Given the description of an element on the screen output the (x, y) to click on. 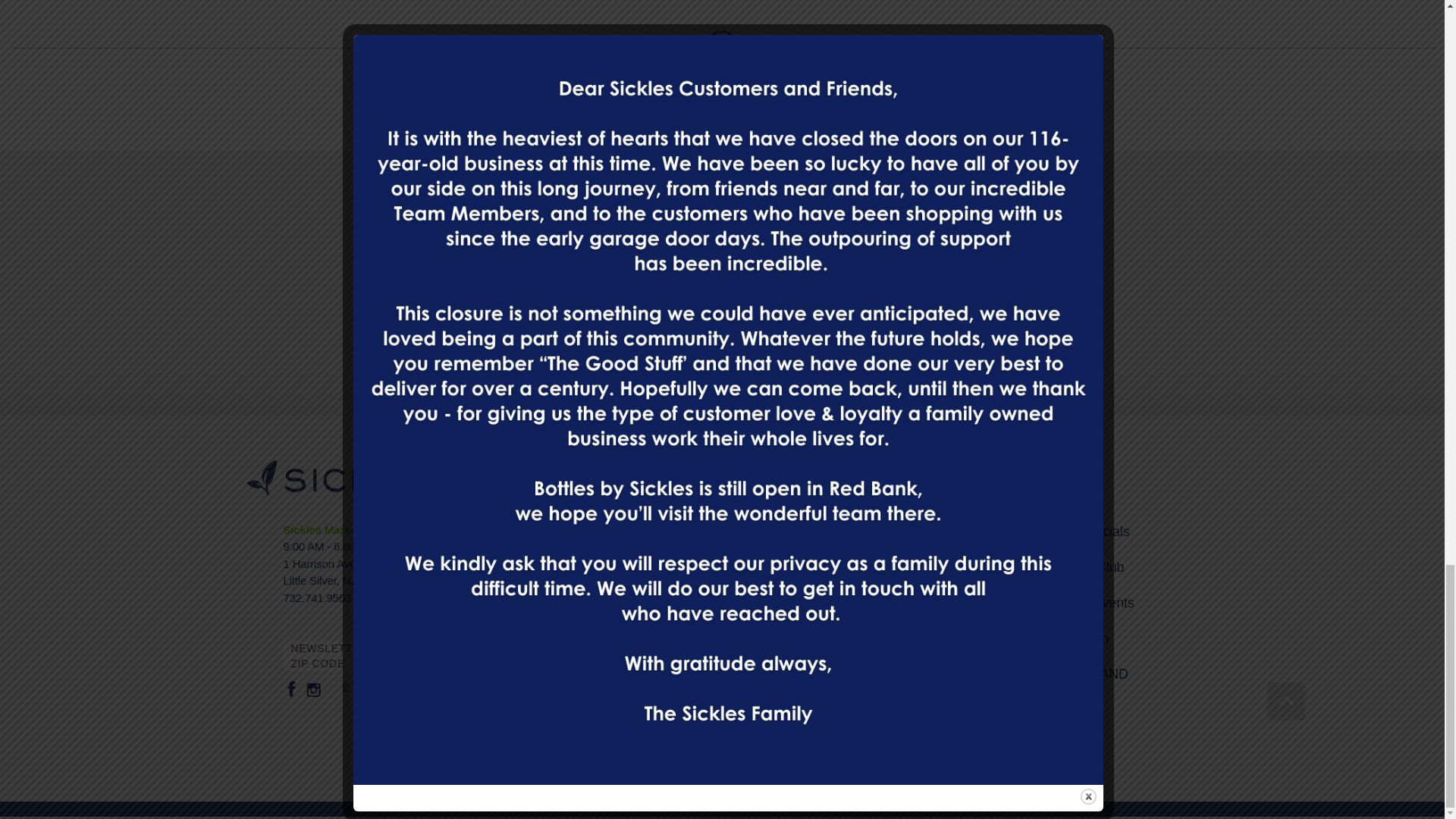
Apply (941, 325)
